Given the description of an element on the screen output the (x, y) to click on. 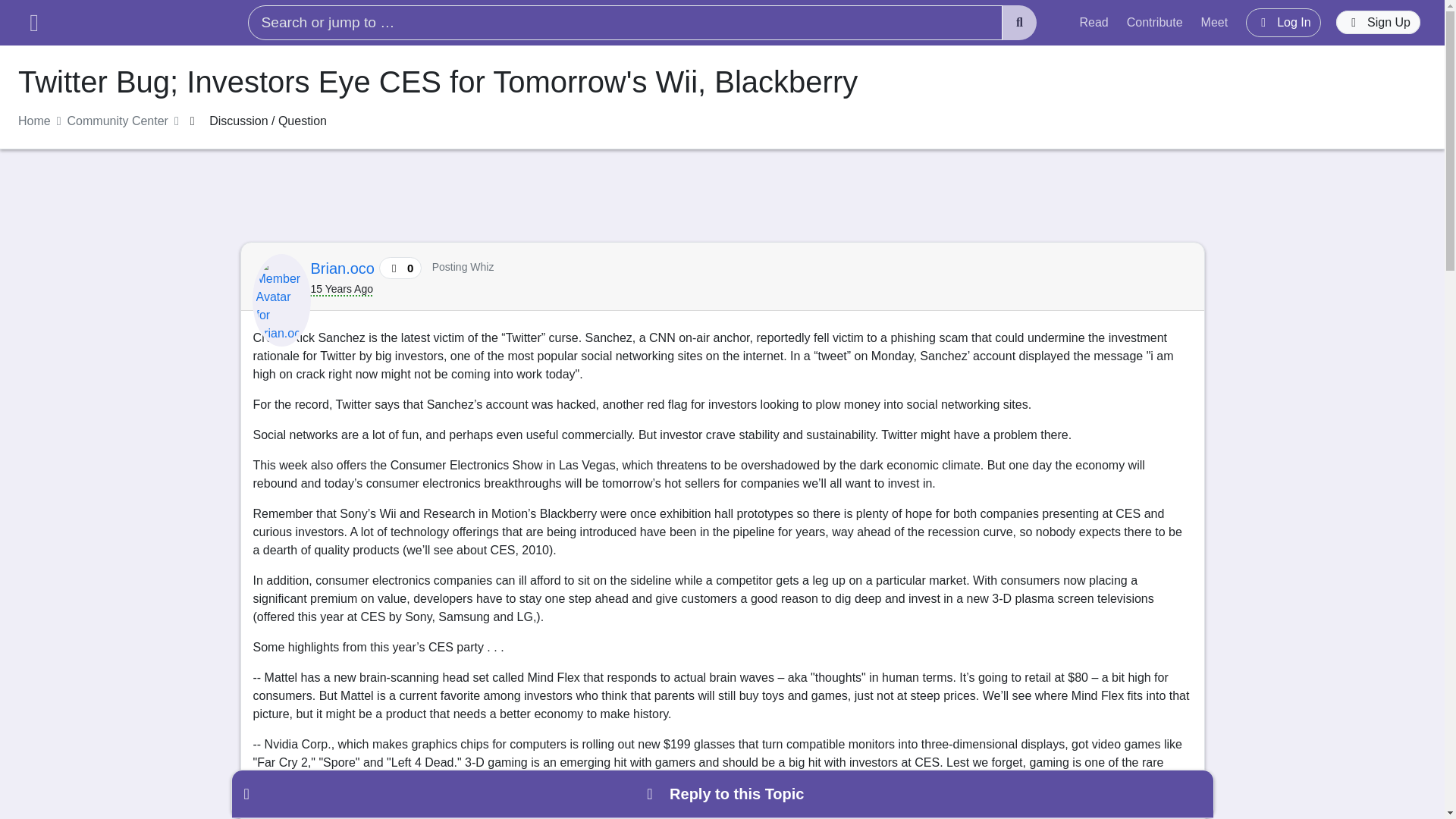
Search (1018, 22)
Community Center (117, 120)
Meet (1214, 22)
Toggle Menu (33, 22)
Log In (1283, 22)
Sign Up (1378, 22)
DaniWeb (135, 22)
Contribute (1155, 22)
Read (1093, 22)
Brian.oco (344, 268)
